Given the description of an element on the screen output the (x, y) to click on. 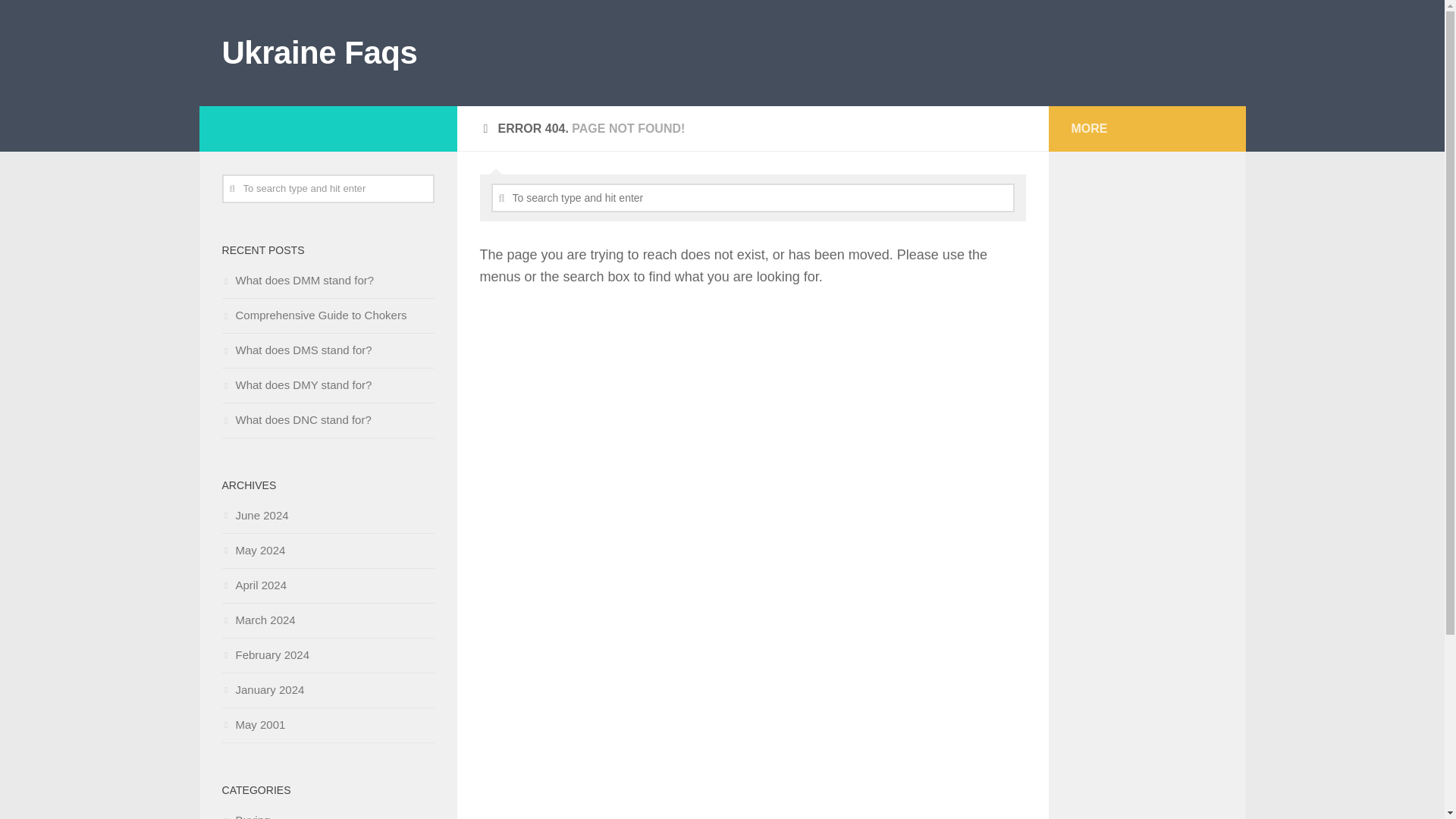
To search type and hit enter (327, 188)
Comprehensive Guide to Chokers (313, 314)
To search type and hit enter (753, 197)
What does DMS stand for? (296, 349)
February 2024 (264, 654)
What does DNC stand for? (296, 419)
June 2024 (254, 514)
March 2024 (258, 619)
Ukraine Faqs (318, 53)
To search type and hit enter (753, 197)
What does DMY stand for? (296, 384)
Buying (245, 816)
April 2024 (253, 584)
To search type and hit enter (327, 188)
May 2001 (253, 724)
